Given the description of an element on the screen output the (x, y) to click on. 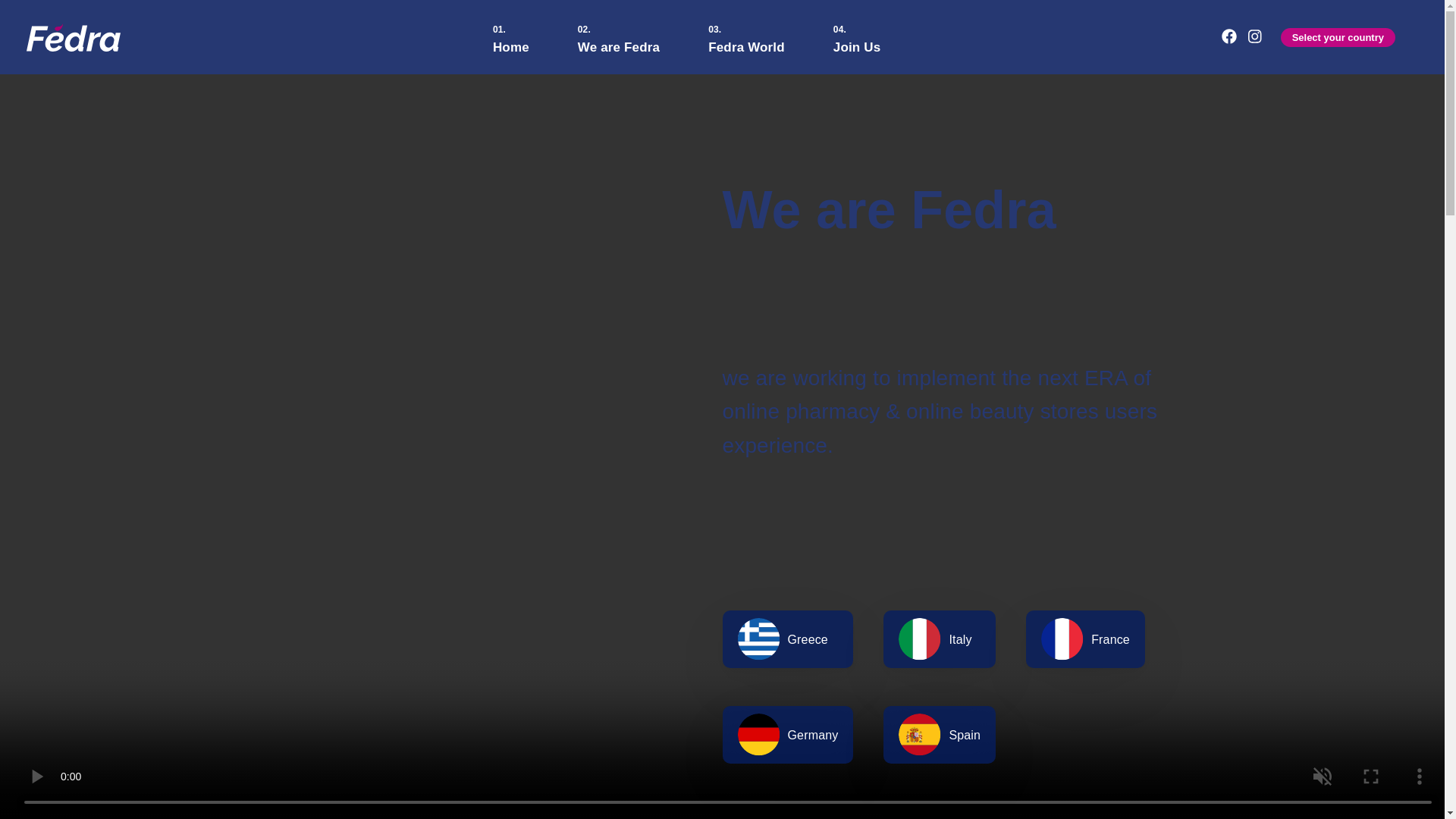
Spain (939, 734)
Germany (787, 734)
Italy (939, 639)
Spain (939, 734)
France (1085, 639)
France (1085, 639)
Greece (787, 639)
We are Fedra (618, 37)
Italy (939, 639)
Greece (787, 639)
